Given the description of an element on the screen output the (x, y) to click on. 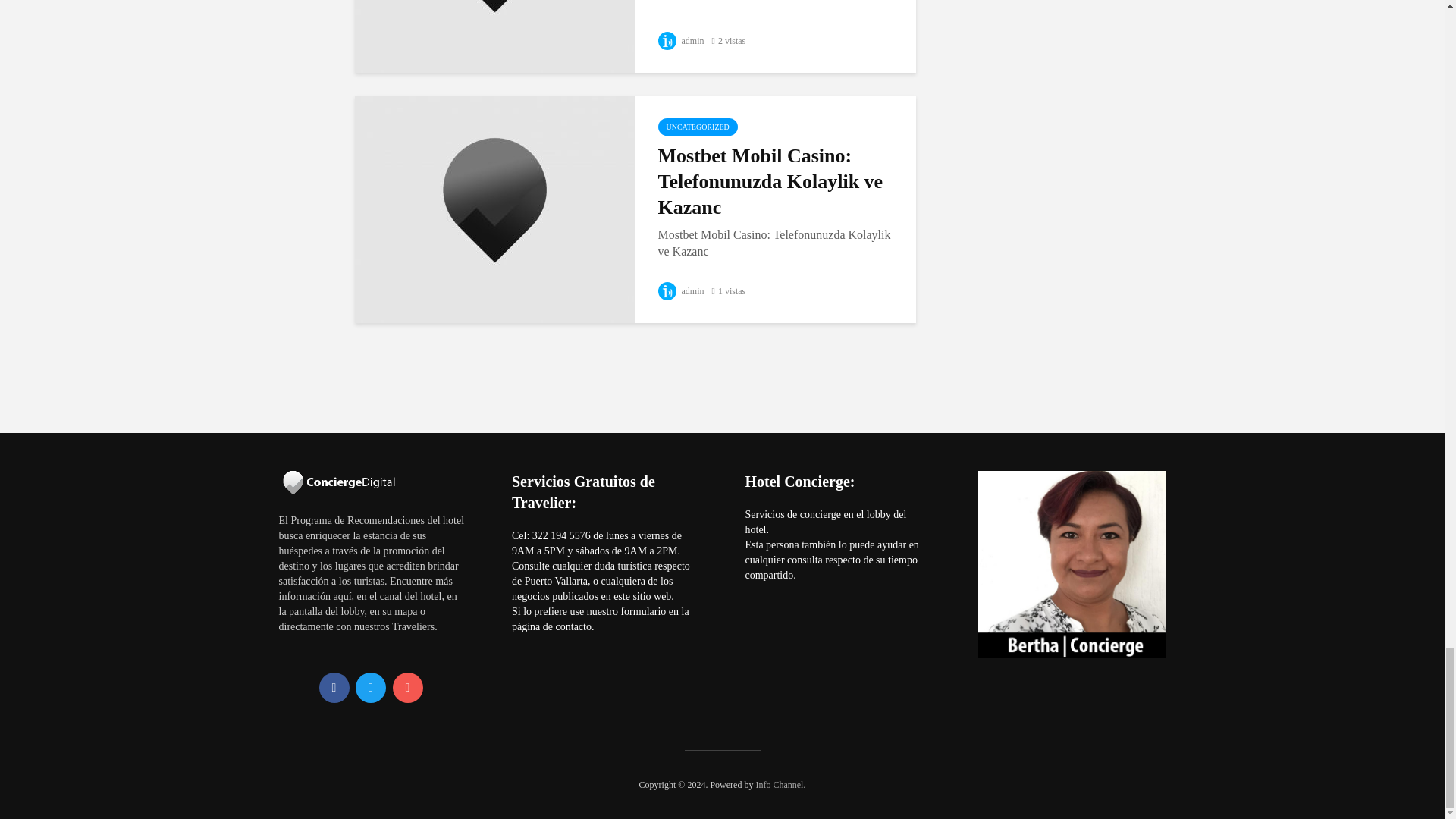
Mostbet Mobil Casino: Telefonunuzda Kolaylik ve Kazanc (494, 206)
